Given the description of an element on the screen output the (x, y) to click on. 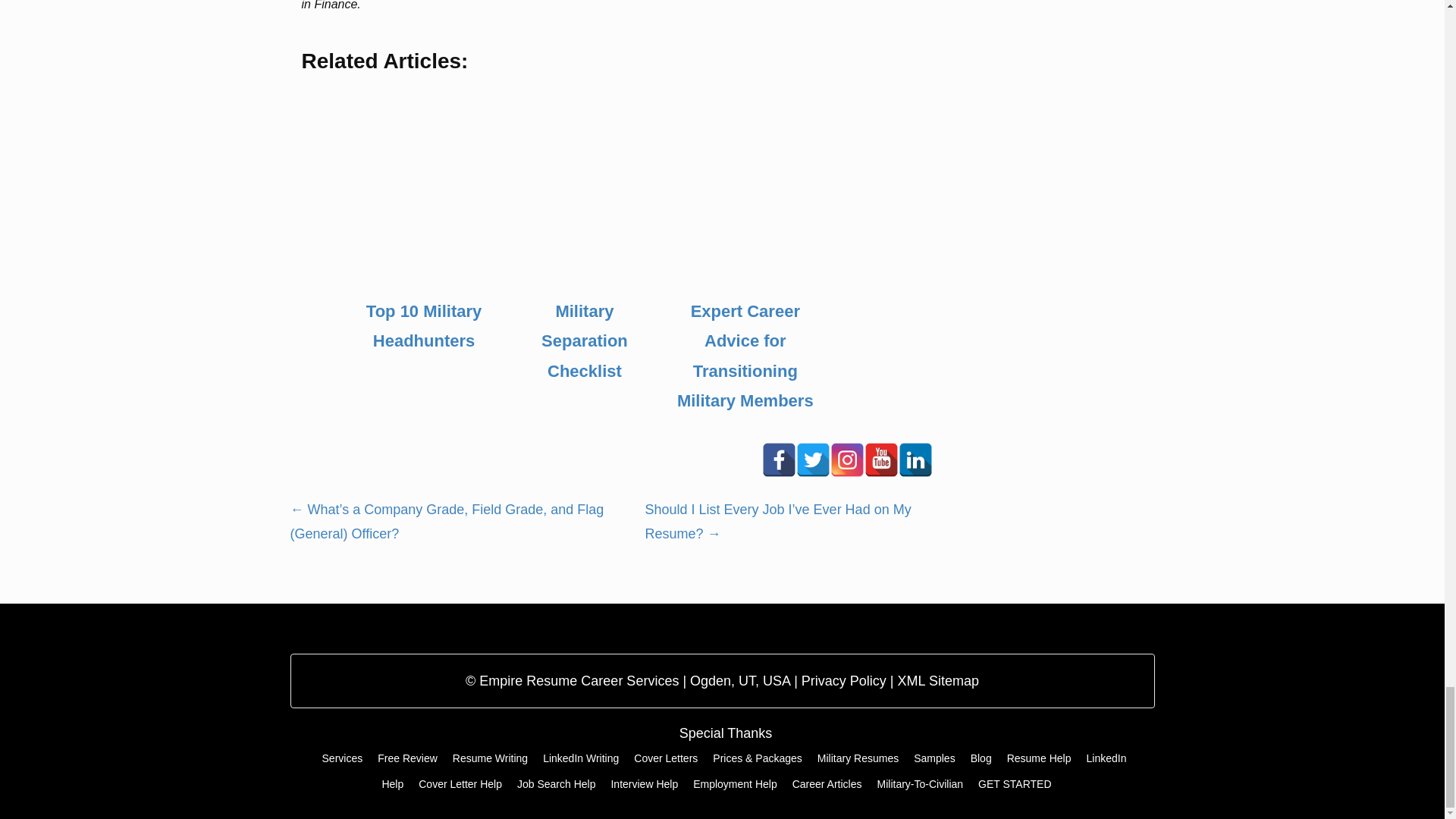
YouTube (881, 459)
Twitter (812, 459)
LinkedIn (915, 459)
Instagram (846, 459)
Facebook (778, 459)
